Given the description of an element on the screen output the (x, y) to click on. 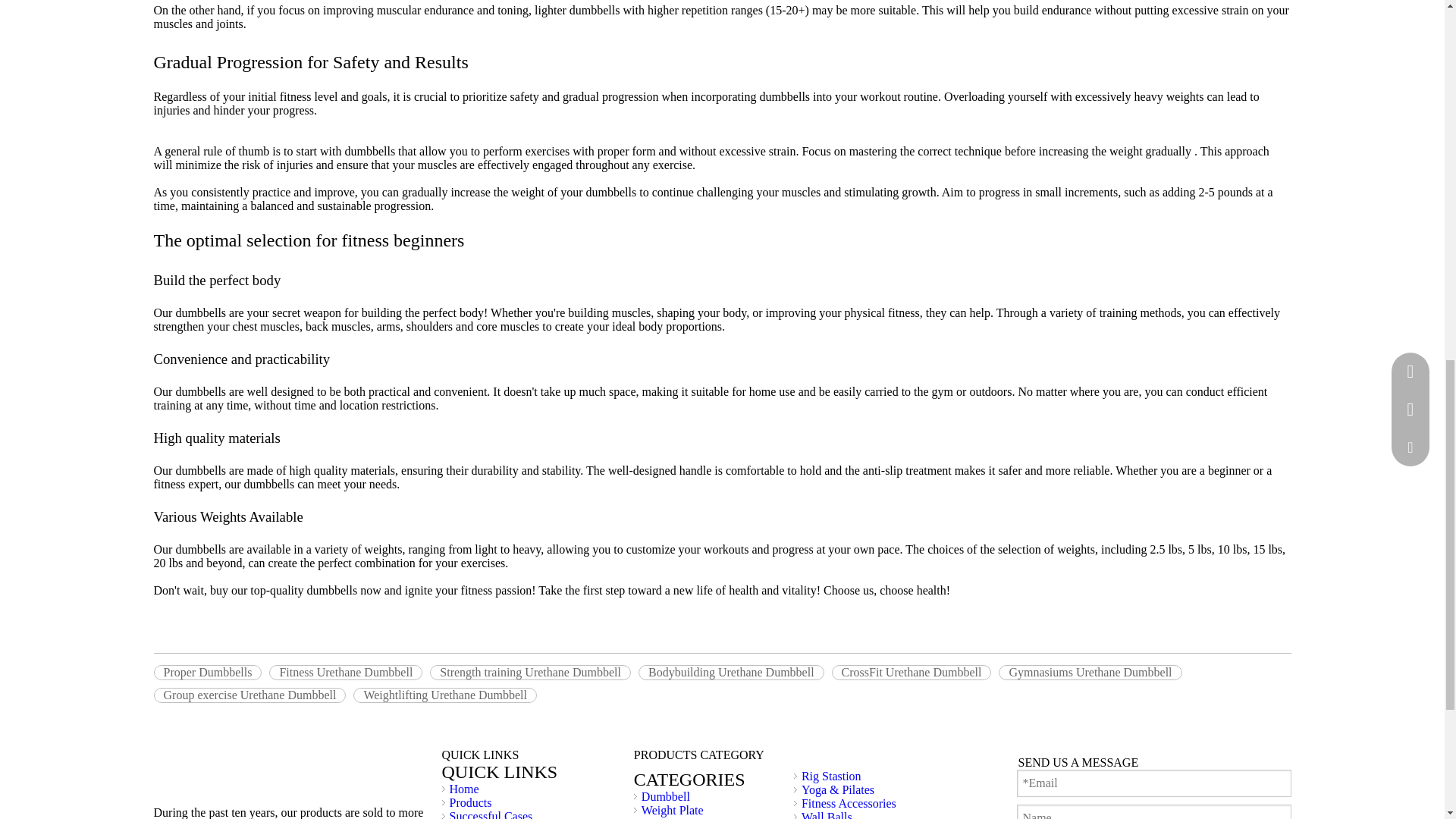
Group exercise Urethane Dumbbell (249, 694)
Gymnasiums Urethane Dumbbell (1089, 672)
Proper Dumbbells (207, 672)
Bodybuilding Urethane Dumbbell (731, 672)
Weightlifting Urethane Dumbbell (445, 694)
CrossFit Urethane Dumbbell (911, 672)
Strength training Urethane Dumbbell (529, 672)
Fitness Urethane Dumbbell (345, 672)
